Given the description of an element on the screen output the (x, y) to click on. 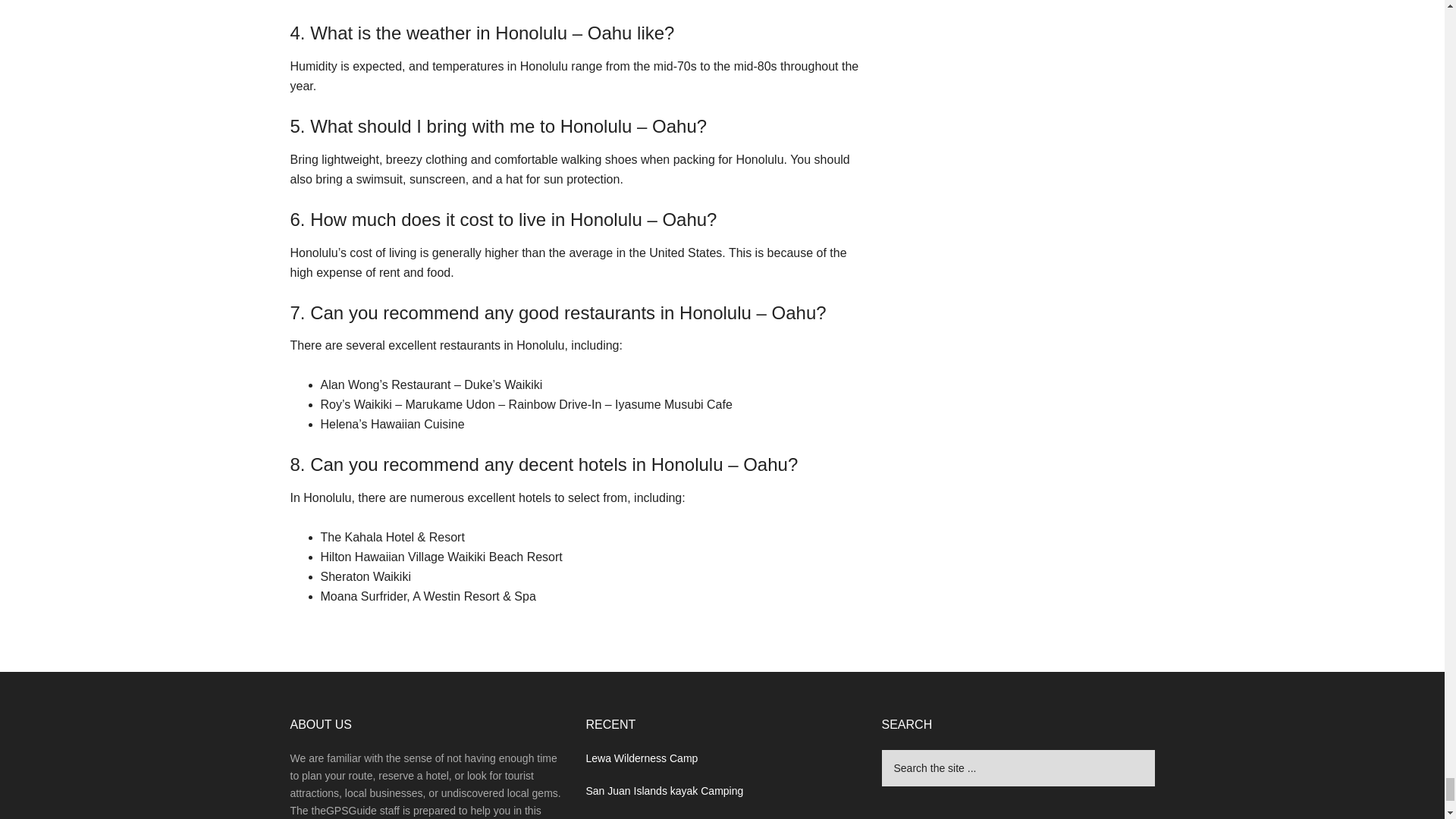
Navy Moms Boot Camp (641, 818)
Lewa Wilderness Camp (641, 758)
San Juan Islands kayak Camping (663, 790)
